Given the description of an element on the screen output the (x, y) to click on. 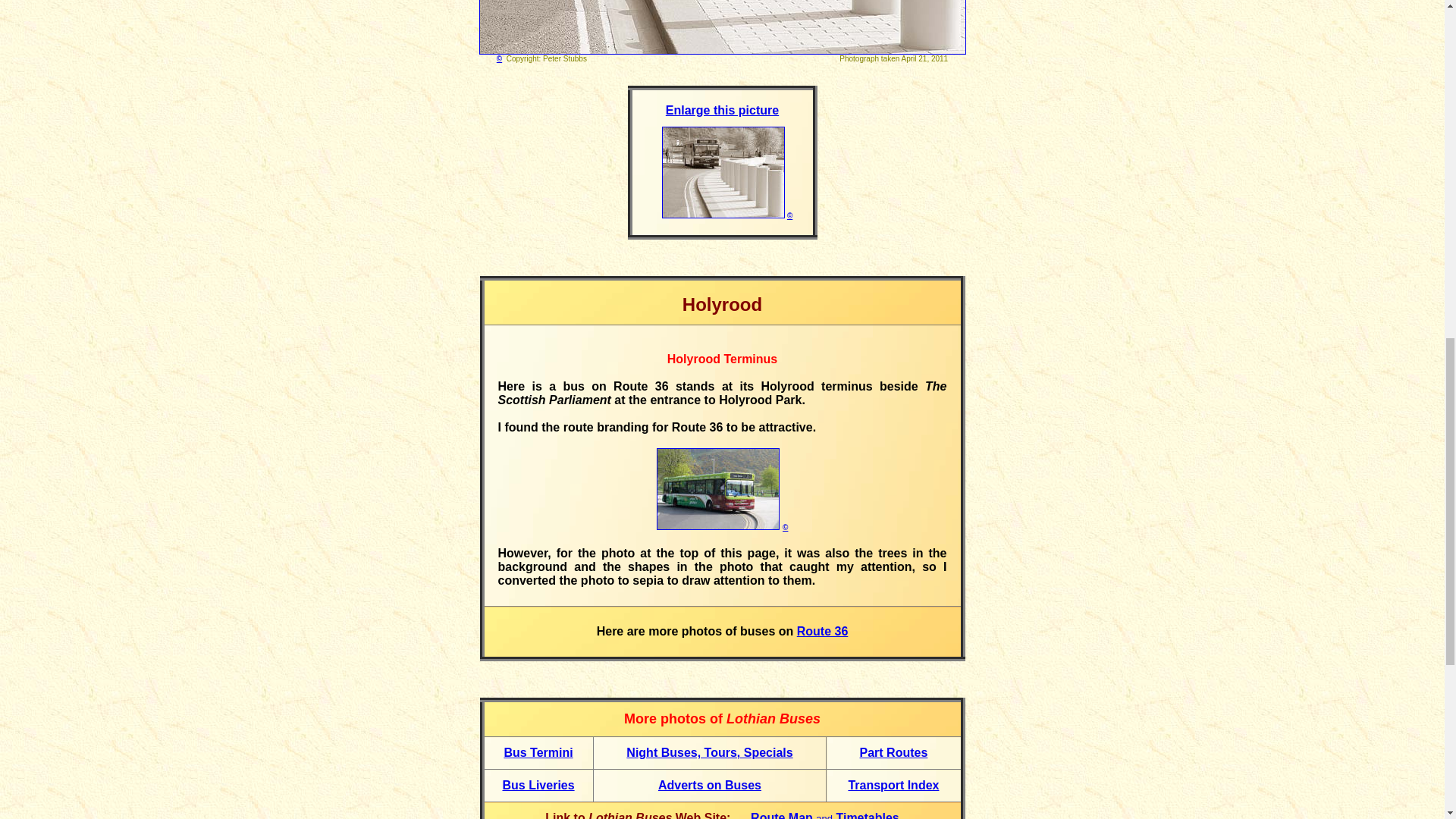
Bus Liveries (537, 784)
Route 36 (822, 631)
Enlarge this picture (721, 110)
and Timetables (856, 815)
Transport Index (893, 784)
Bus Termin (536, 752)
Night Buses, Tours, Specials (709, 752)
Adverts on Buses (709, 784)
Part Routes (894, 752)
Route Map (783, 815)
